Given the description of an element on the screen output the (x, y) to click on. 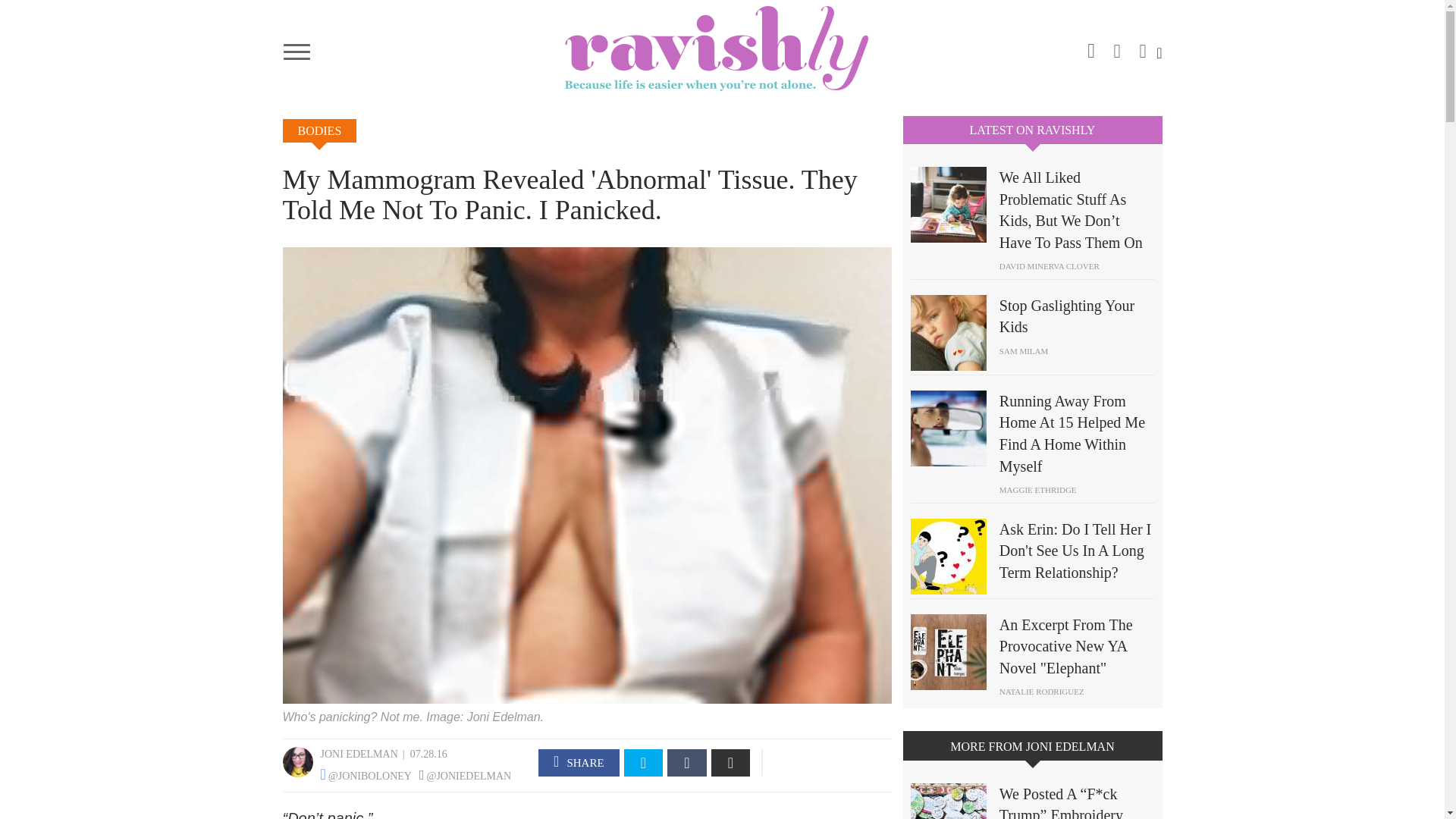
twitter (1142, 46)
Home (721, 47)
Email (731, 762)
BODIES (319, 130)
facebook (1117, 46)
instagram (1090, 48)
Tumblr (686, 762)
twitter (643, 762)
JONI EDELMAN (358, 754)
